Given the description of an element on the screen output the (x, y) to click on. 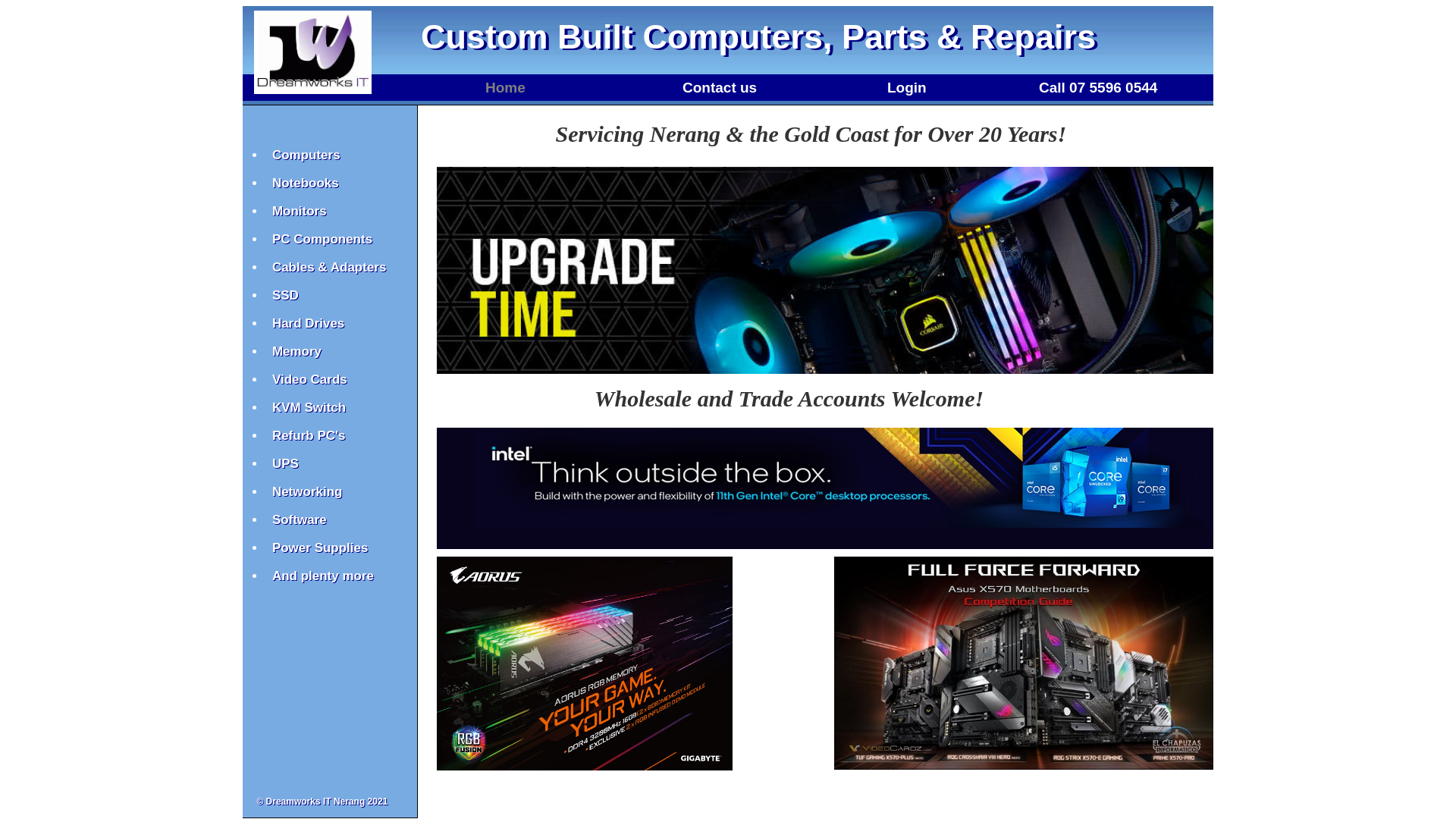
Contact us Element type: text (719, 87)
Login Element type: text (906, 87)
